Given the description of an element on the screen output the (x, y) to click on. 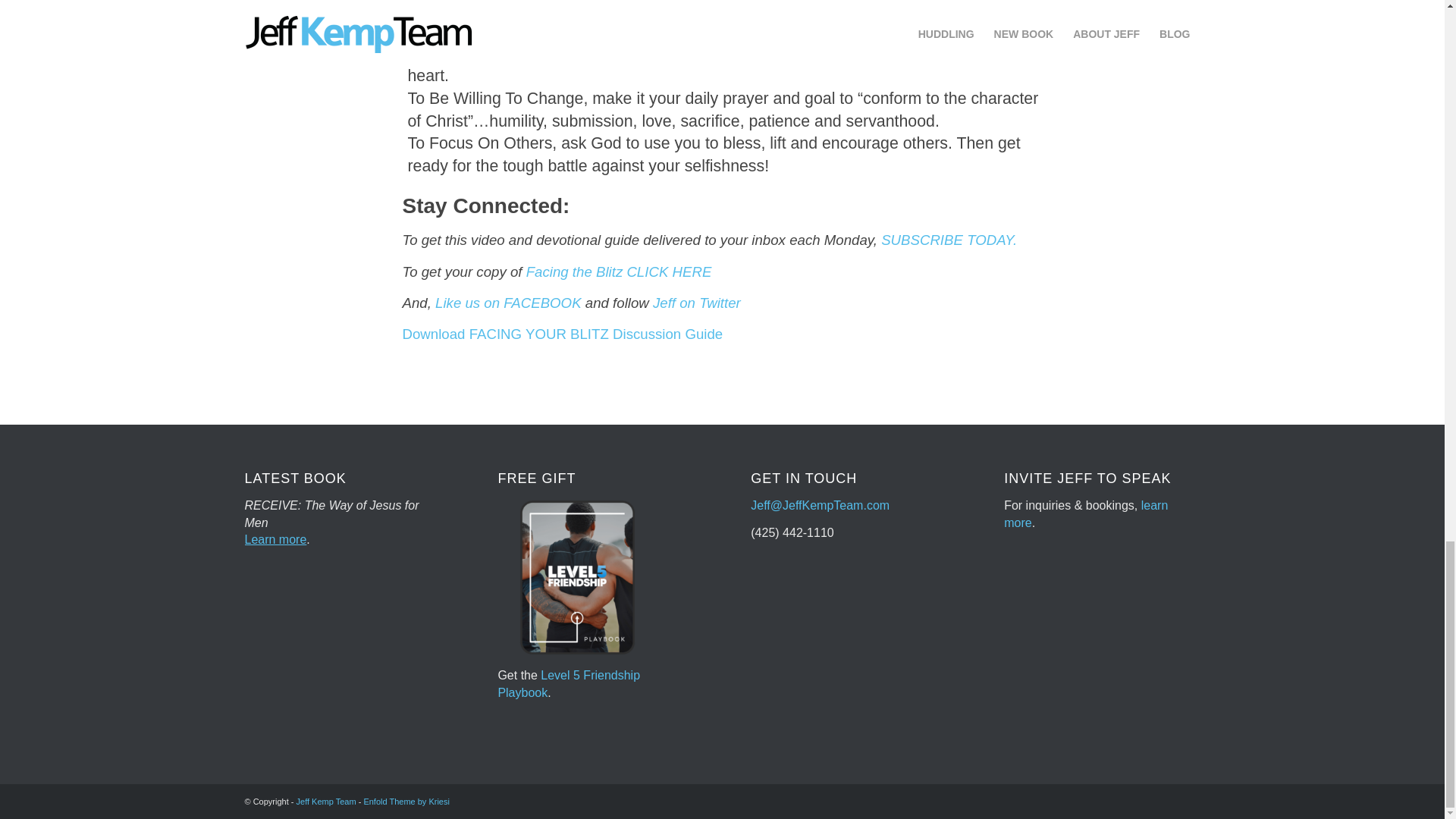
SUBSCRIBE TODAY. (948, 239)
Like us on FACEBOOK (507, 302)
Enfold Theme by Kriesi (405, 800)
learn more (1085, 513)
Jeff Kemp Team (326, 800)
Learn more (274, 539)
Download FACING YOUR BLITZ Discussion Guide (561, 334)
Jeff on Twitter (696, 302)
Facing the Blitz CLICK HERE (618, 270)
Level 5 Friendship Playbook (568, 683)
